Given the description of an element on the screen output the (x, y) to click on. 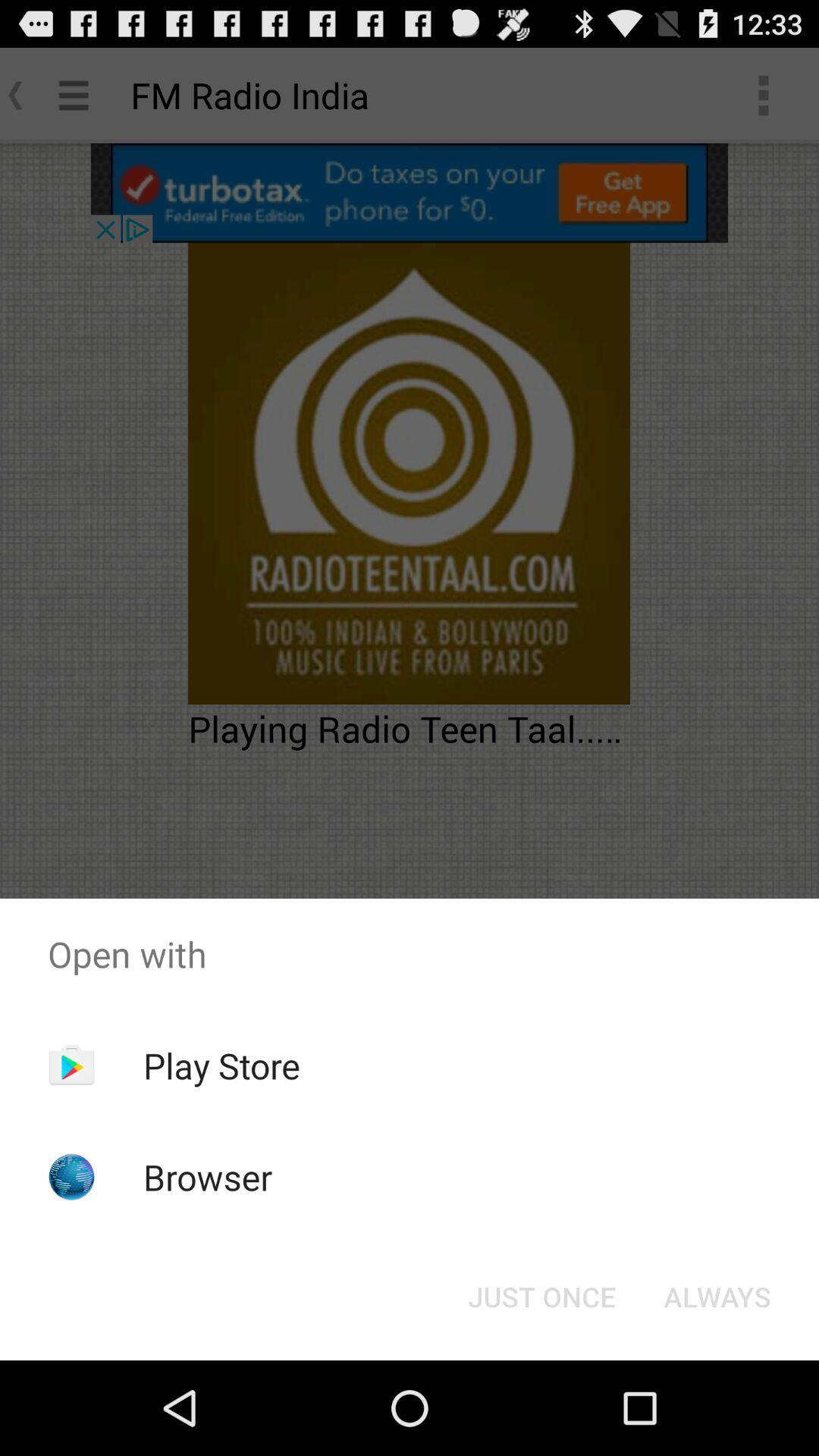
launch the item next to always icon (541, 1296)
